Given the description of an element on the screen output the (x, y) to click on. 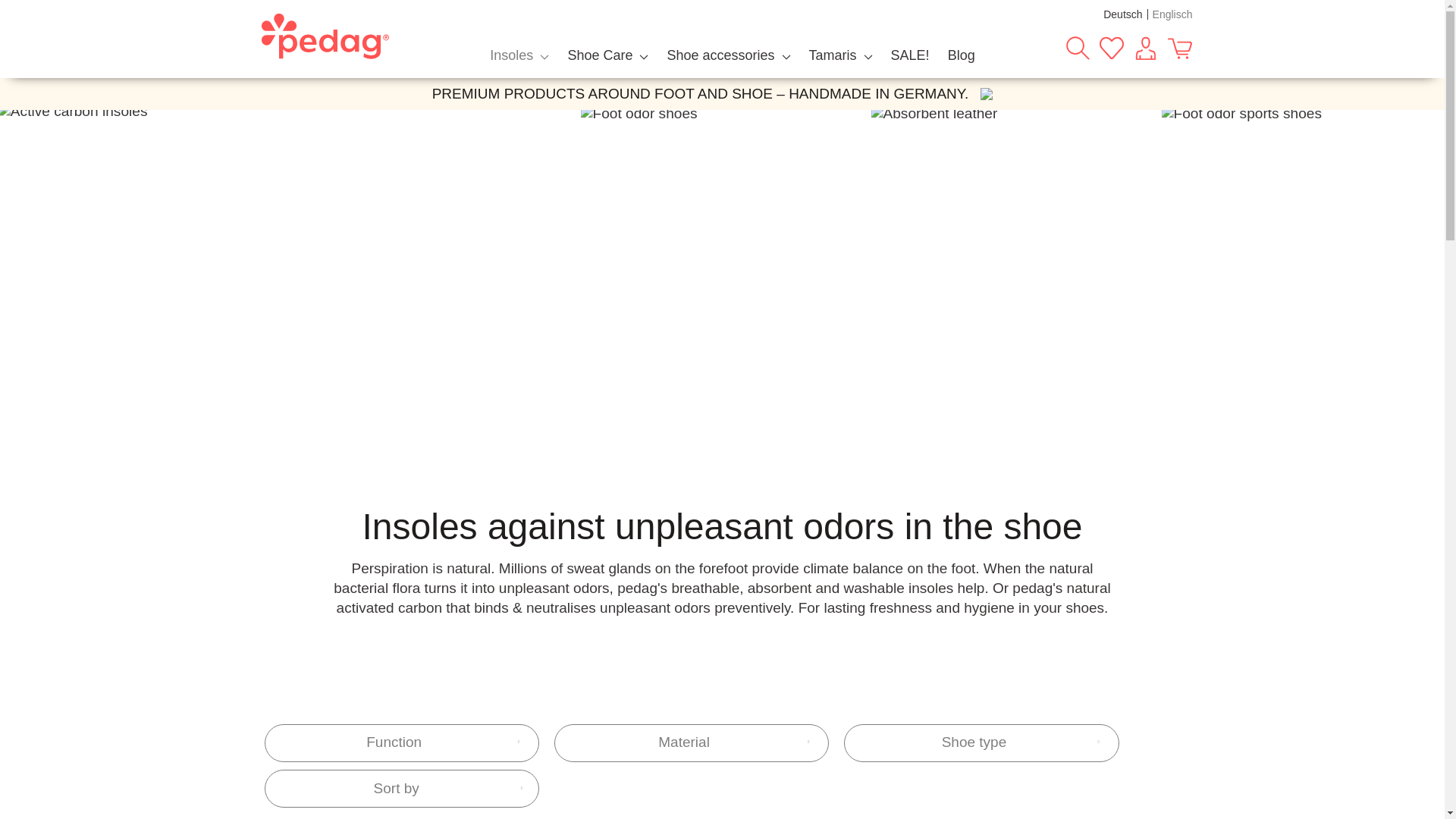
Insoles (518, 55)
Shoe accessories (728, 55)
Shoe Care (606, 55)
Tamaris (841, 55)
SALE! (910, 55)
Shoe Care (606, 55)
Deutsch (1122, 14)
Insoles (518, 55)
SALE! (910, 55)
Shoe accessories (728, 55)
